Given the description of an element on the screen output the (x, y) to click on. 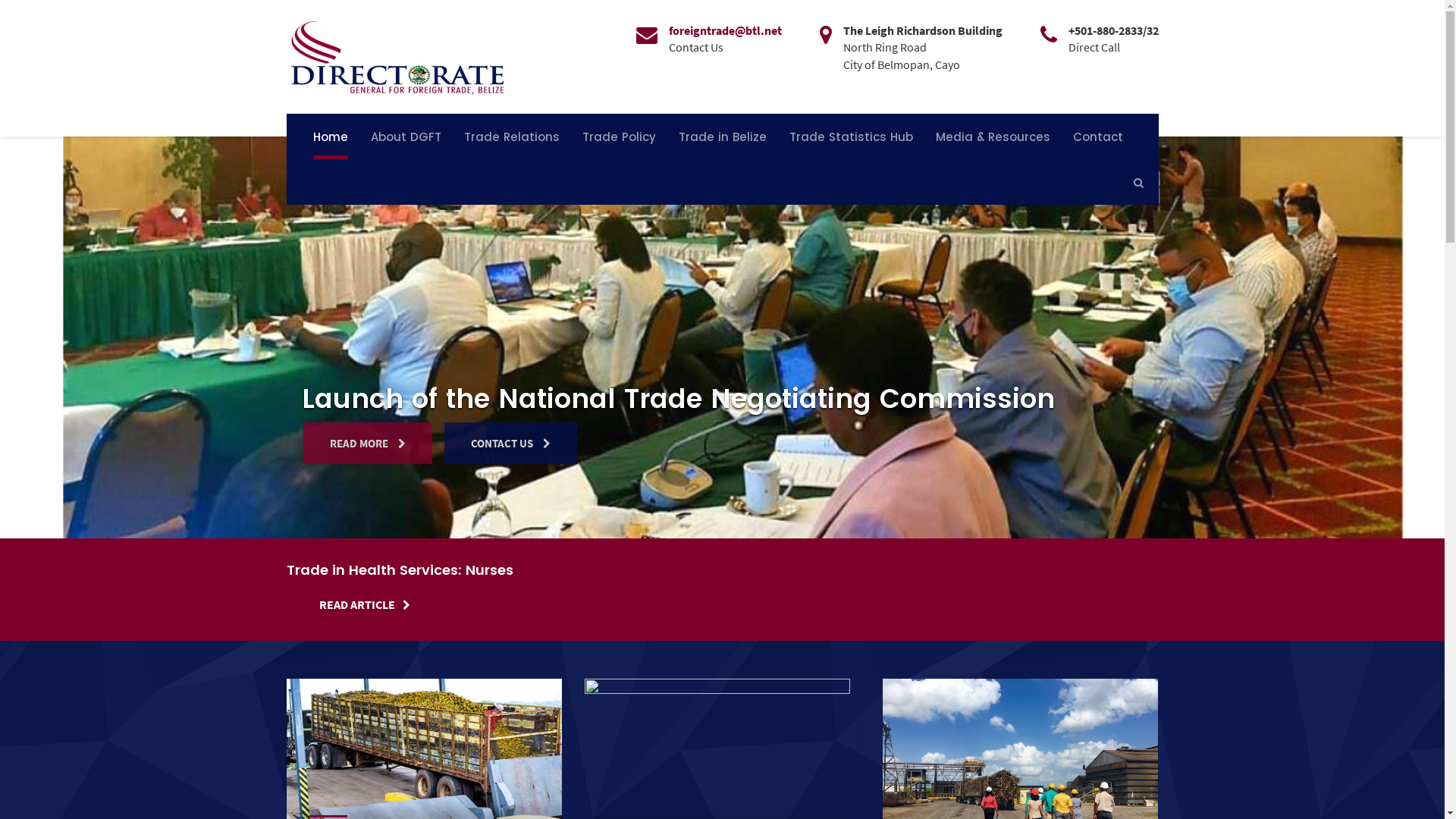
Trade Relations Element type: text (510, 136)
About DGFT Element type: text (405, 136)
CONTACT US Element type: text (510, 443)
Trade Statistics Hub Element type: text (851, 136)
Search Element type: text (1122, 222)
Home Element type: text (330, 136)
Media & Resources Element type: text (991, 136)
Contact Element type: text (1097, 136)
Trade Policy Element type: text (618, 136)
foreigntrade@btl.net Element type: text (724, 29)
Trade in Belize Element type: text (722, 136)
READ ARTICLE Element type: text (364, 604)
READ MORE Element type: text (367, 443)
